Given the description of an element on the screen output the (x, y) to click on. 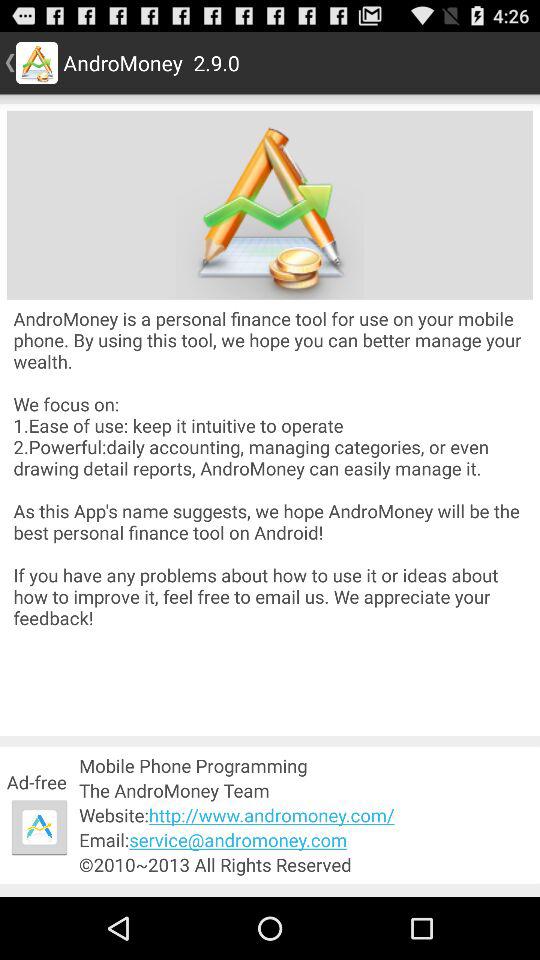
app button (39, 827)
